Given the description of an element on the screen output the (x, y) to click on. 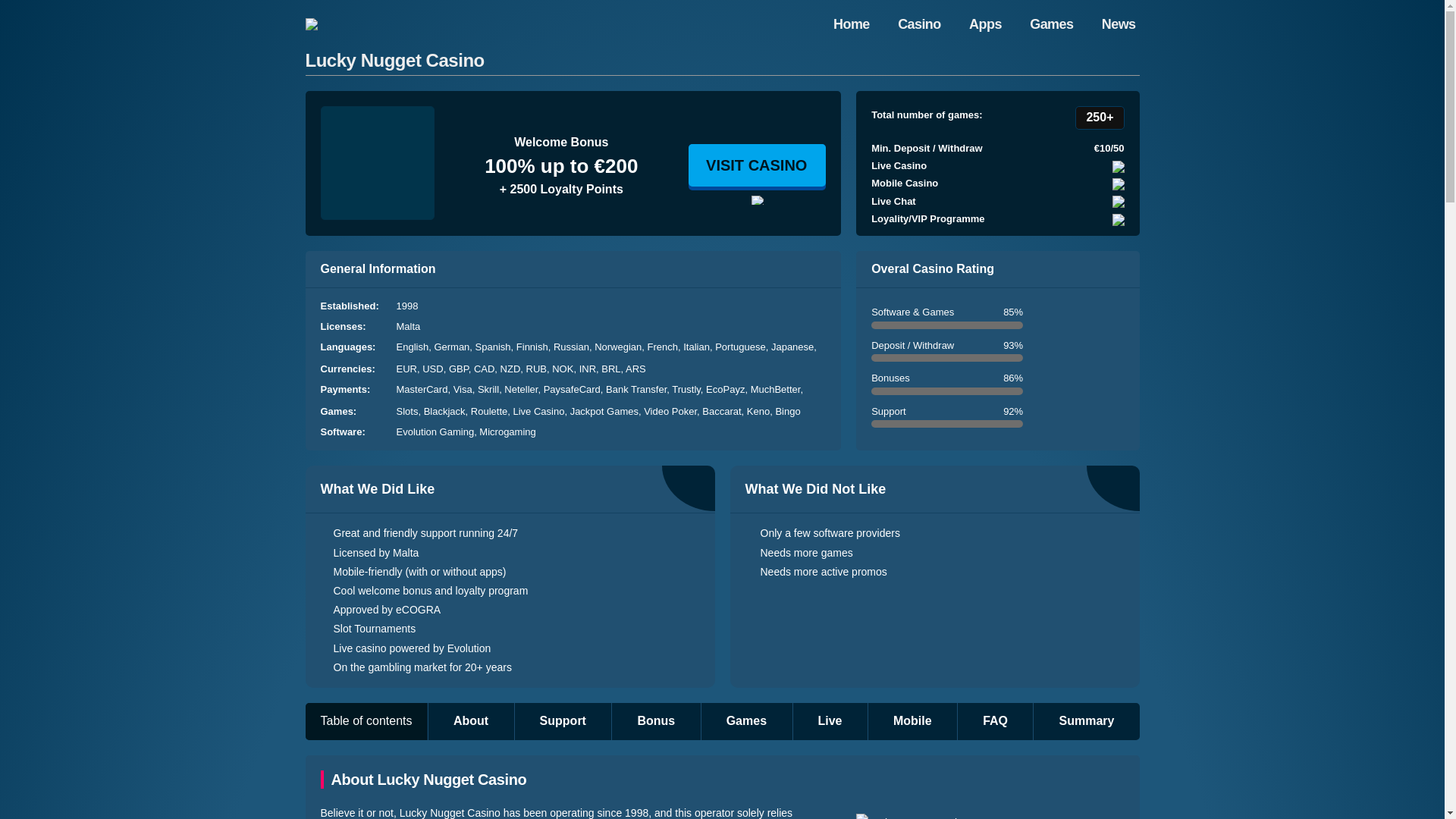
ARS (636, 368)
Malta (408, 326)
Italian (698, 346)
Bangla (609, 360)
Hindi (529, 360)
English (414, 346)
Icelandic (493, 360)
GBP (461, 368)
RUB (539, 368)
Greek (412, 360)
